Given the description of an element on the screen output the (x, y) to click on. 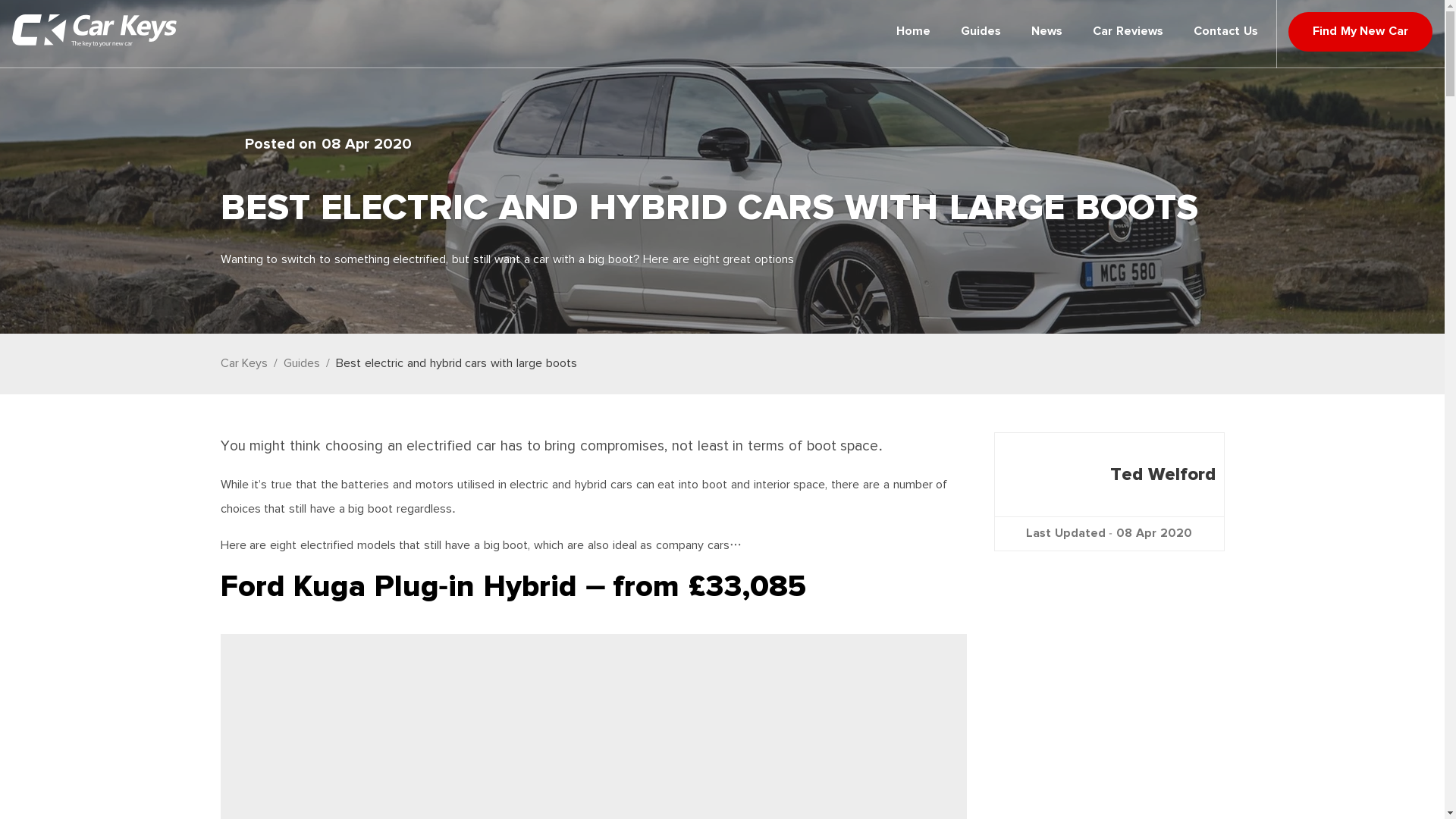
Guides (301, 363)
Best electric and hybrid cars with large boots (456, 363)
Guides (980, 31)
News (1046, 31)
Find My New Car (1360, 31)
Contact Us (1224, 31)
Car Keys (243, 363)
Home (912, 31)
Car Reviews (1127, 31)
